Given the description of an element on the screen output the (x, y) to click on. 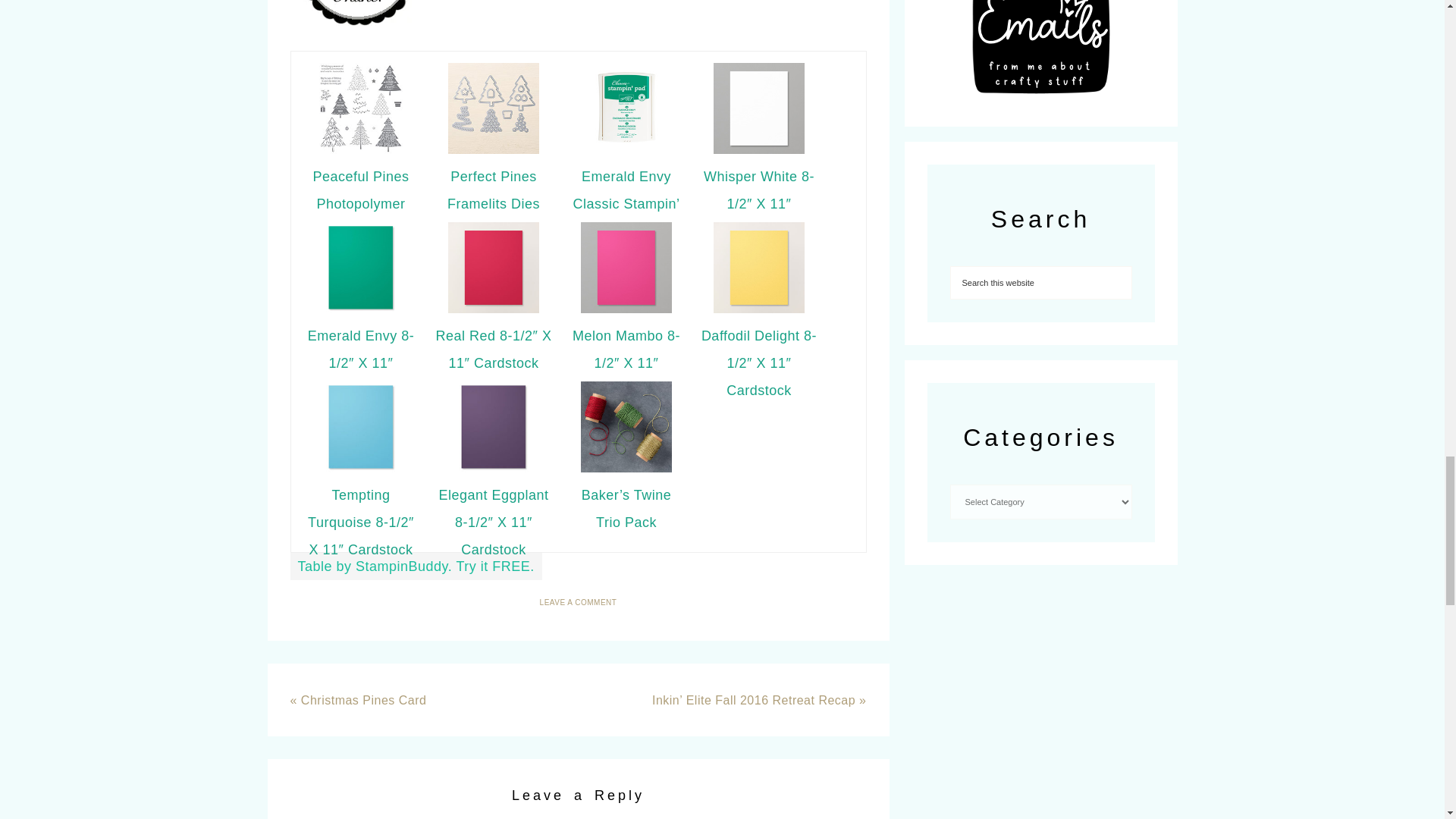
Perfect Pines Framelits Dies (493, 189)
Peaceful Pines Photopolymer Stamp Set (361, 203)
